Given the description of an element on the screen output the (x, y) to click on. 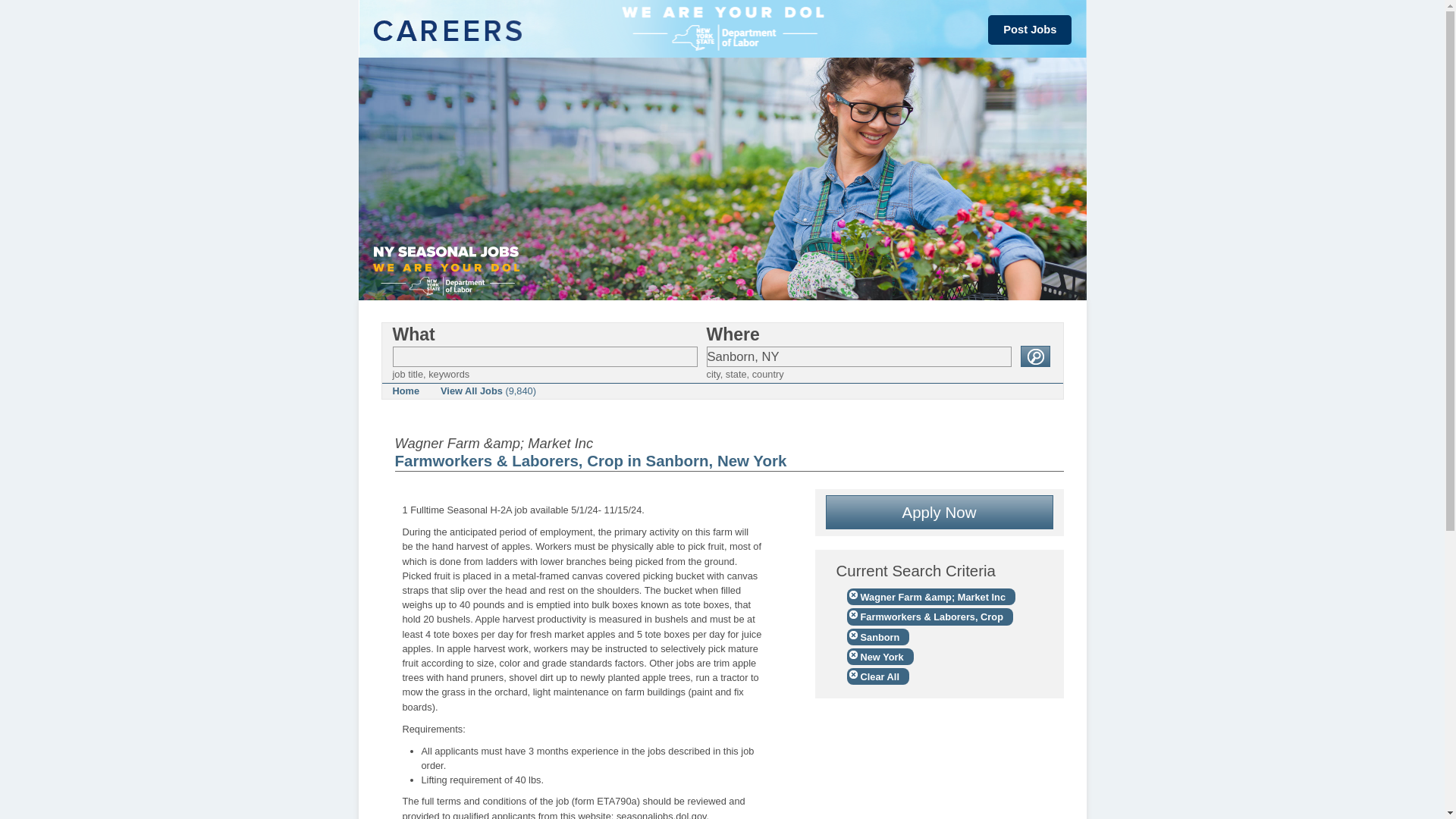
Submit Search (1034, 355)
Apply Now (938, 512)
Sanborn (876, 636)
New York (878, 656)
Remove New York (878, 656)
search (1034, 355)
search (1034, 355)
Search Phrase (545, 356)
Clear All (876, 676)
Sanborn, NY (858, 356)
Home (405, 391)
Search Location (858, 356)
Clear All (876, 676)
Remove Sanborn (876, 636)
